Given the description of an element on the screen output the (x, y) to click on. 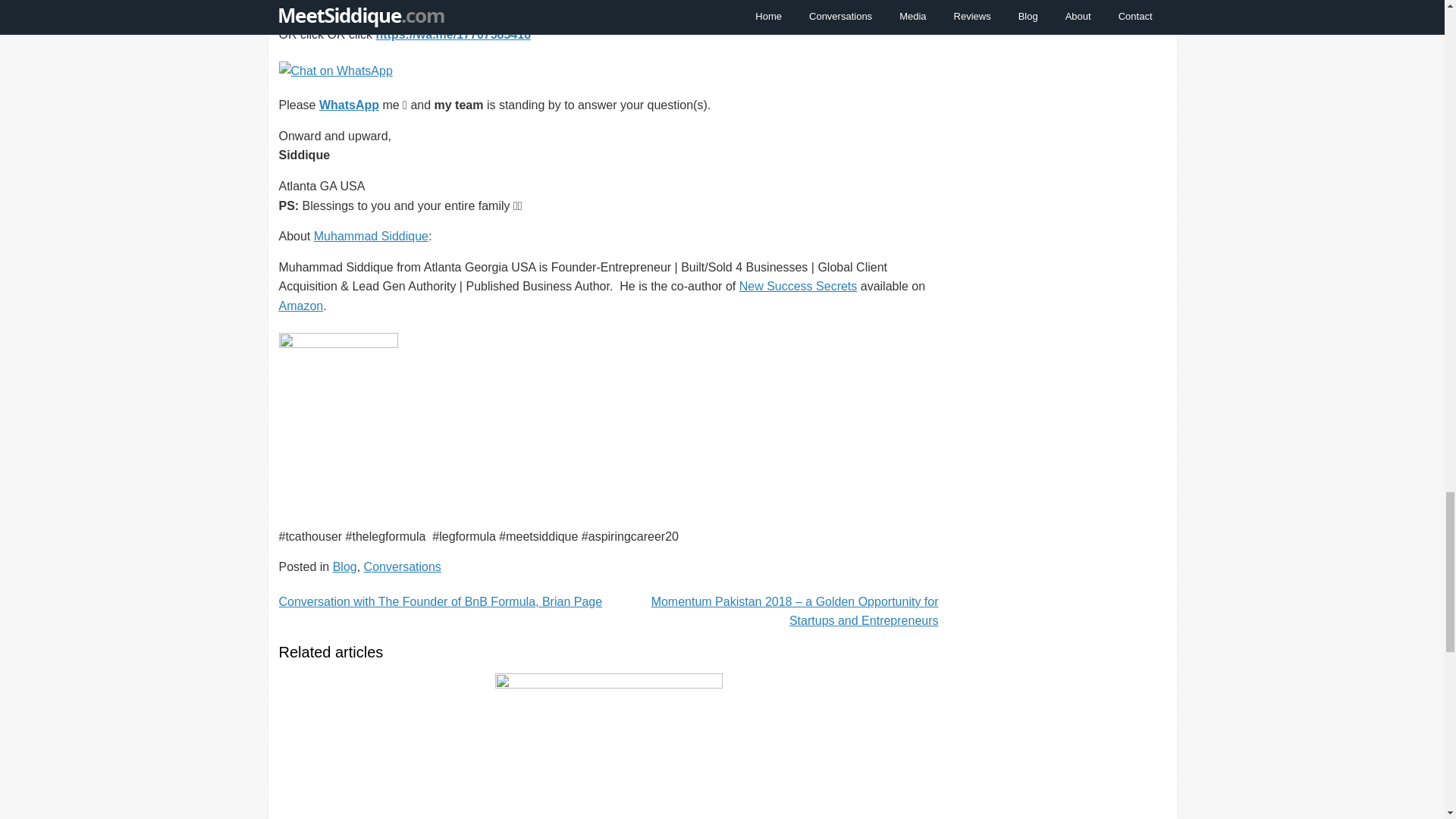
New Success Secrets (798, 286)
Amazon (301, 305)
Conversation with The Founder of BnB Formula, Brian Page (440, 601)
Conversations (402, 566)
Muhammad Siddique (371, 236)
Blog (344, 566)
WhatsApp (348, 104)
